Given the description of an element on the screen output the (x, y) to click on. 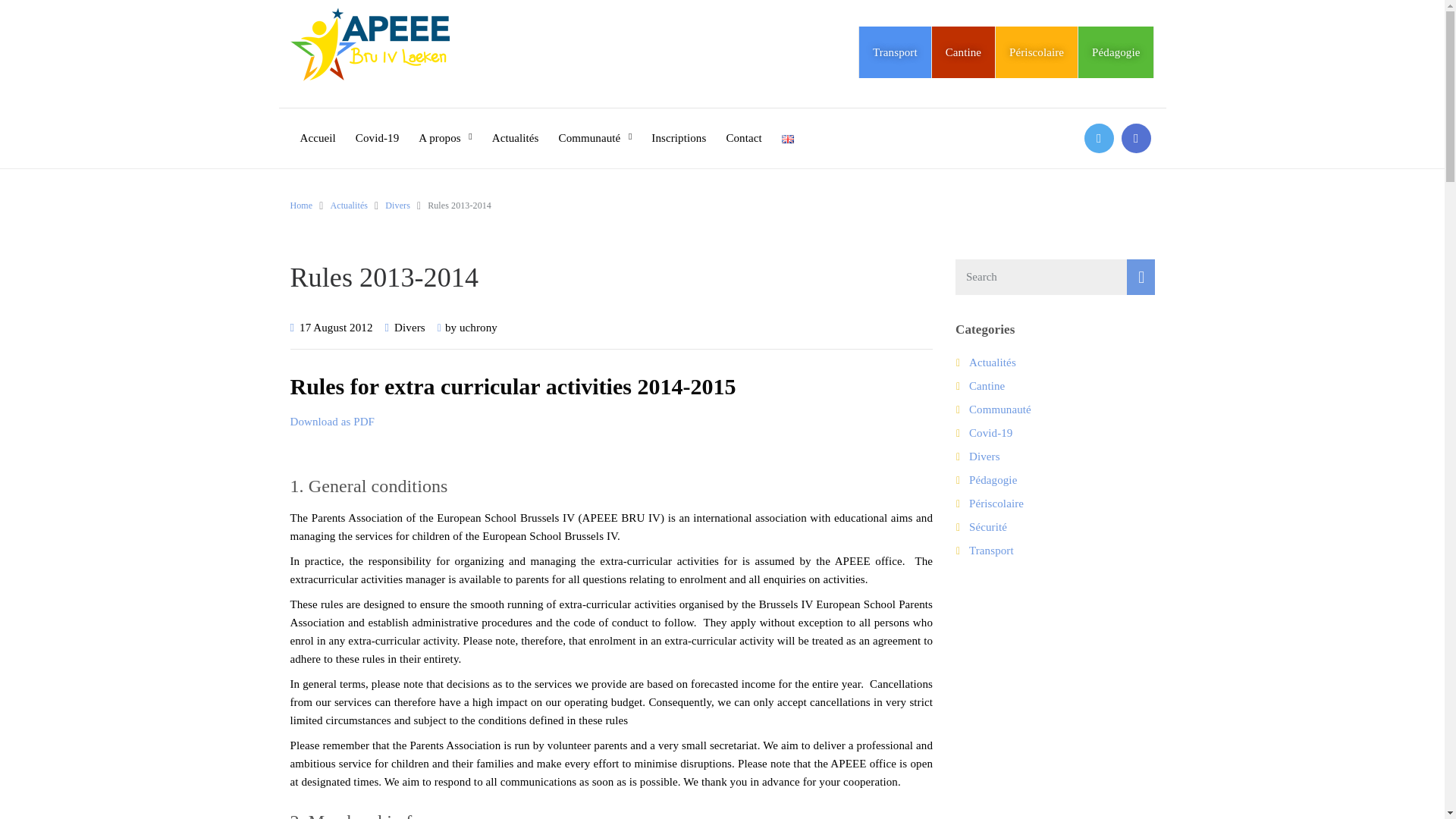
Covid-19 (376, 127)
Permalink to Rules 2013-2014 (335, 327)
A propos (445, 127)
Transport (895, 52)
Cantine (963, 52)
View all posts by uchrony (478, 327)
Accueil (317, 127)
